Given the description of an element on the screen output the (x, y) to click on. 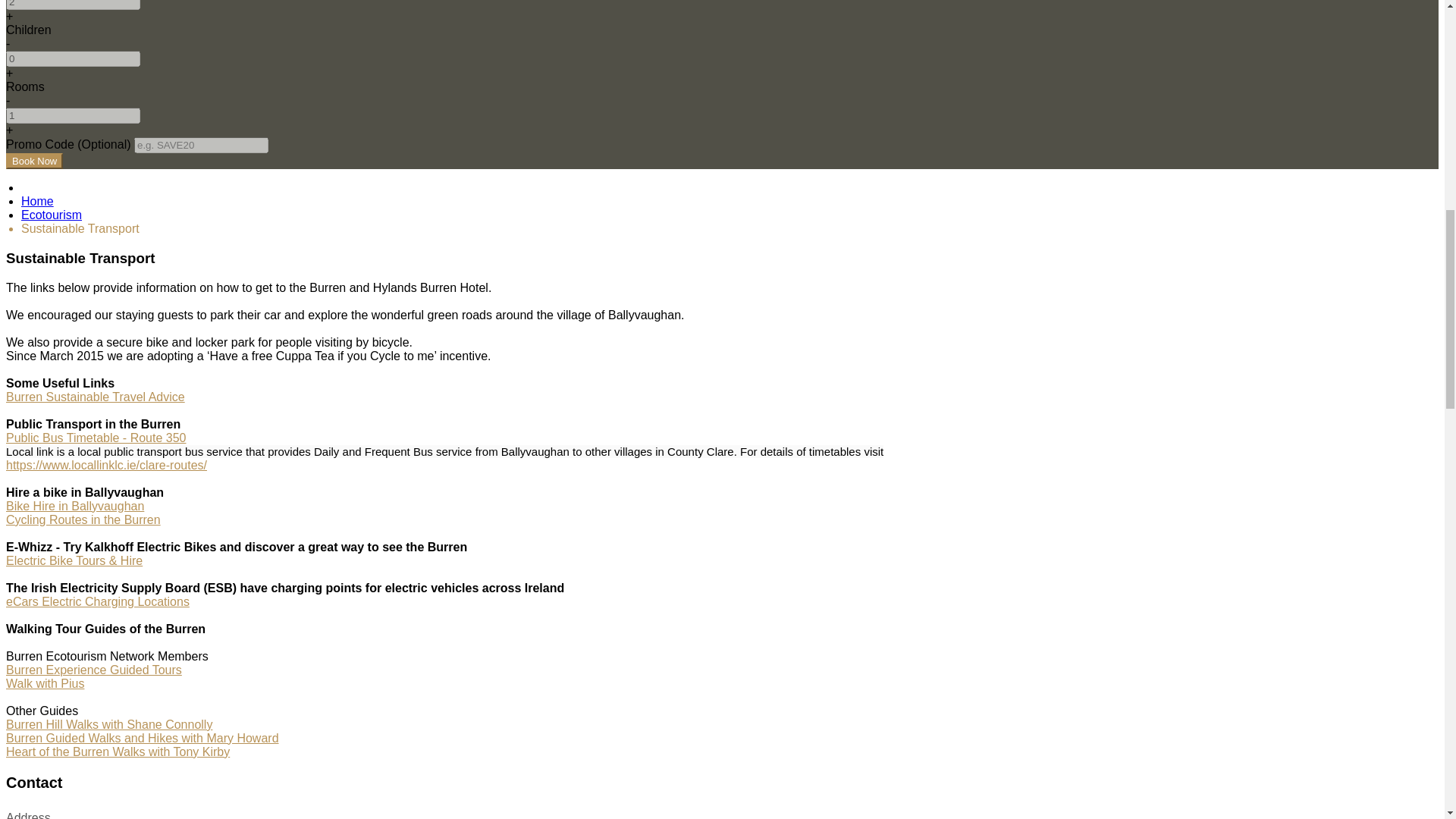
2 (72, 4)
Burren Experience GuidedTours (93, 669)
Walk with Pius (44, 683)
Cycling Routes in the Burren (82, 519)
0 (72, 58)
1 (72, 115)
Book Now (33, 160)
Bike Hire in Ballyvaughan (74, 505)
Public Bus Timetable - Route 350 (95, 437)
